Given the description of an element on the screen output the (x, y) to click on. 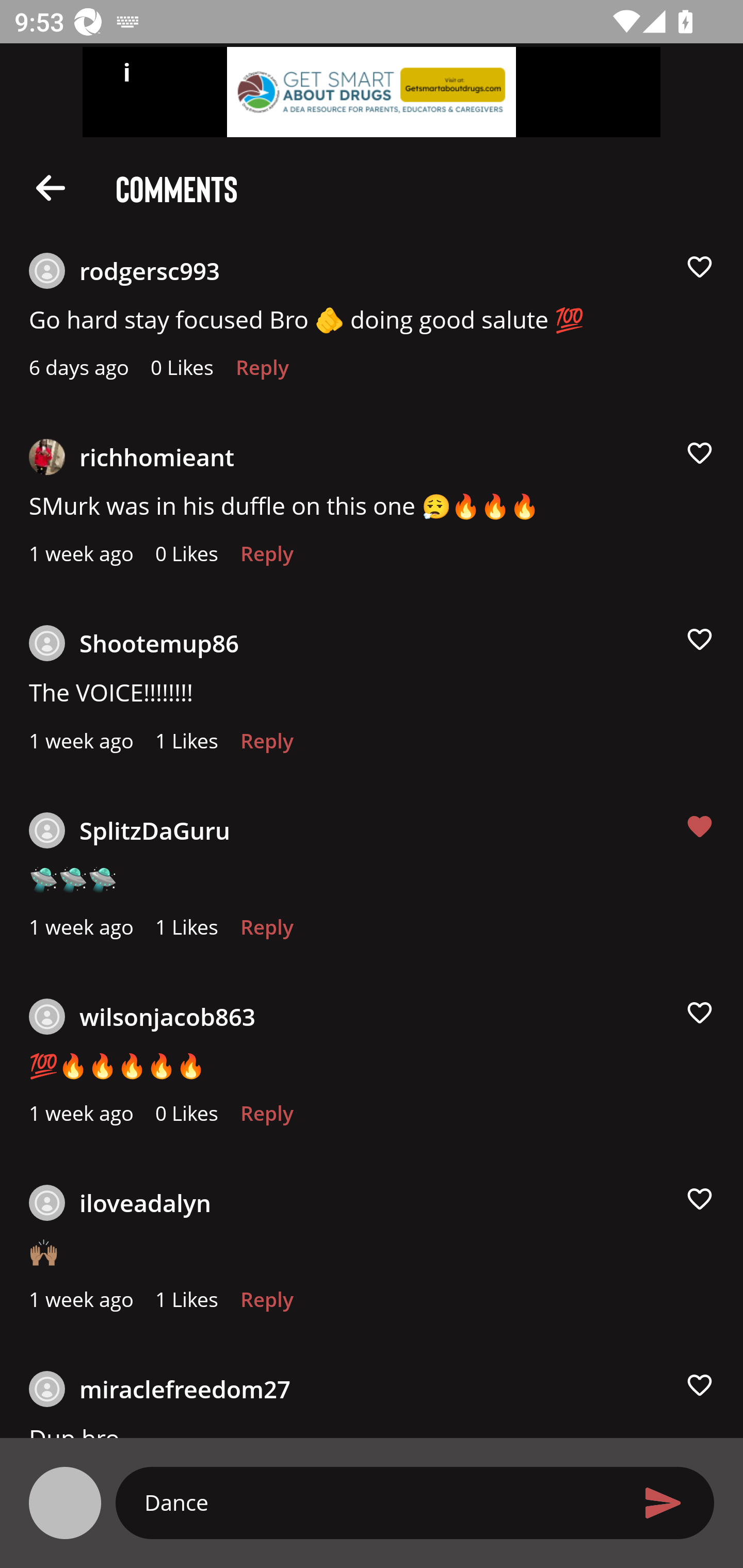
Description (50, 187)
Reply (261, 372)
Reply (266, 558)
Reply (266, 746)
Reply (266, 932)
Reply (266, 1117)
Reply (266, 1304)
Dance (378, 1502)
